Given the description of an element on the screen output the (x, y) to click on. 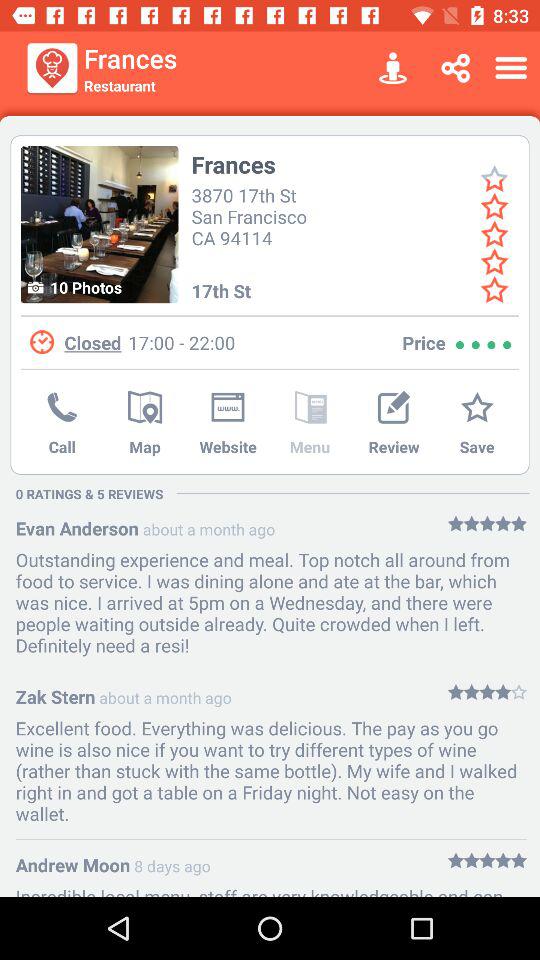
click icon to the left of the frances (99, 224)
